Given the description of an element on the screen output the (x, y) to click on. 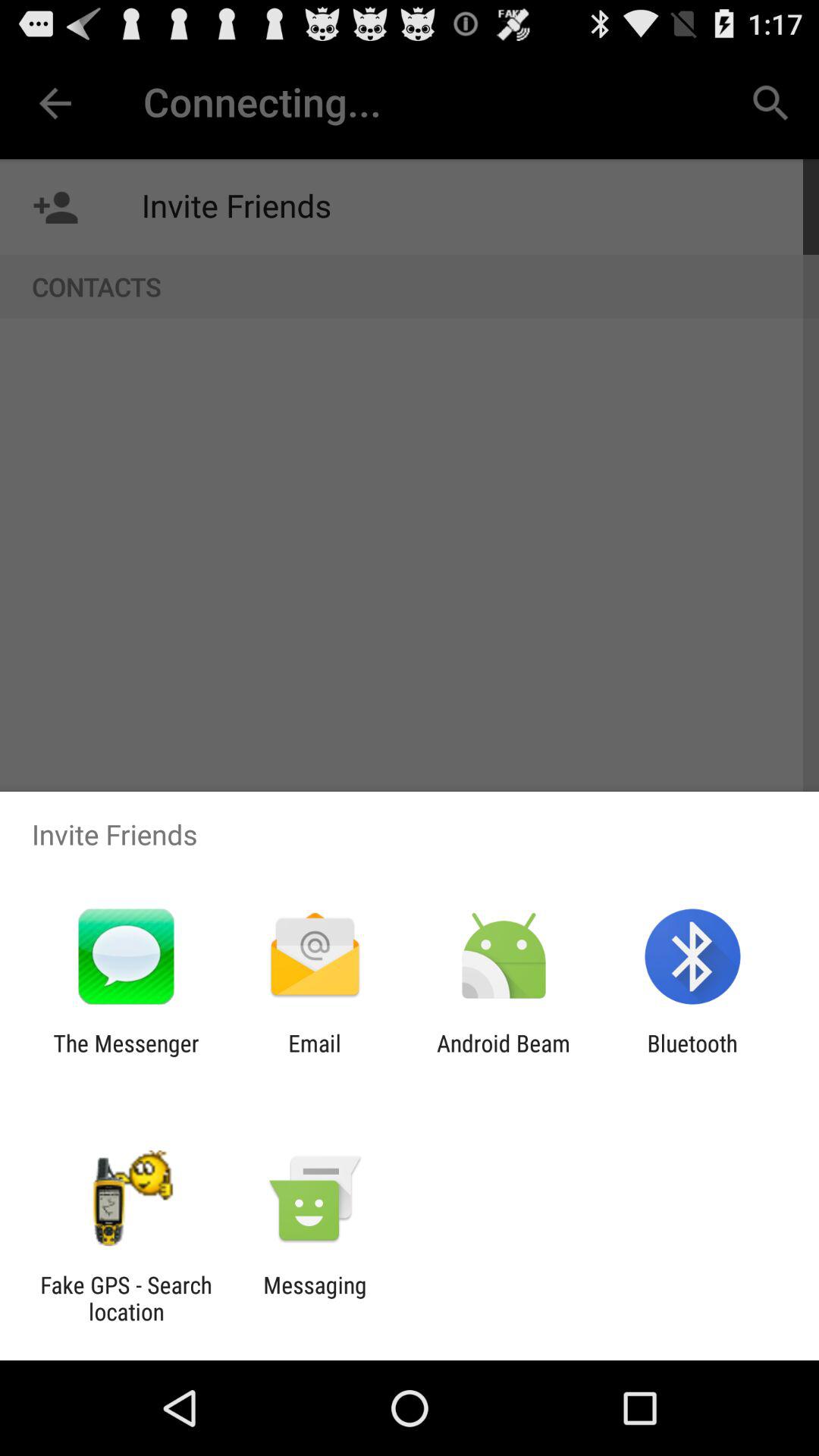
click the email icon (314, 1056)
